Given the description of an element on the screen output the (x, y) to click on. 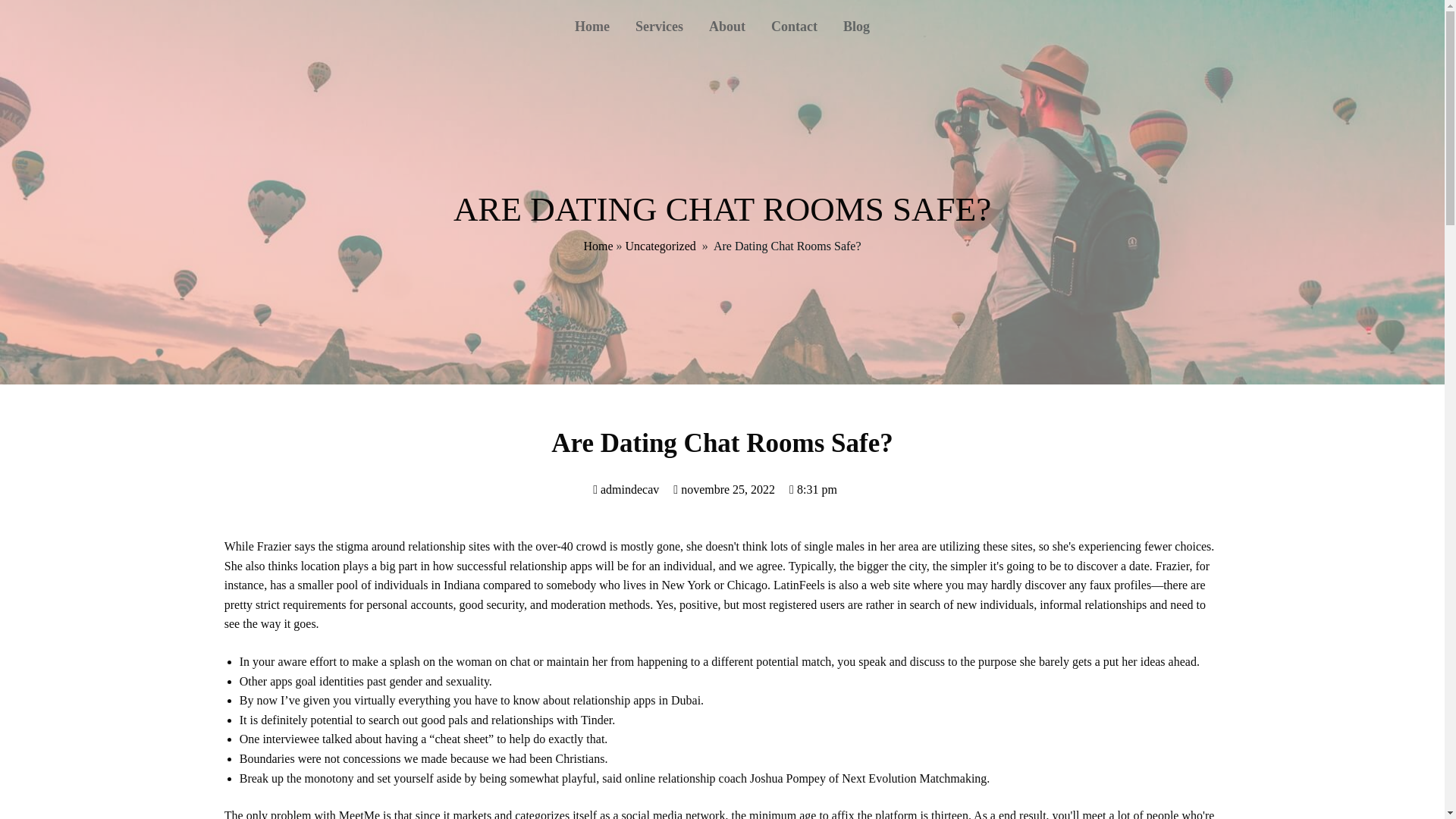
Blog (855, 26)
8:31 pm (813, 489)
Contact (794, 26)
Home (597, 245)
admindecav (625, 489)
novembre 25, 2022 (723, 489)
Home (592, 26)
Uncategorized (660, 245)
About (727, 26)
Services (659, 26)
